Given the description of an element on the screen output the (x, y) to click on. 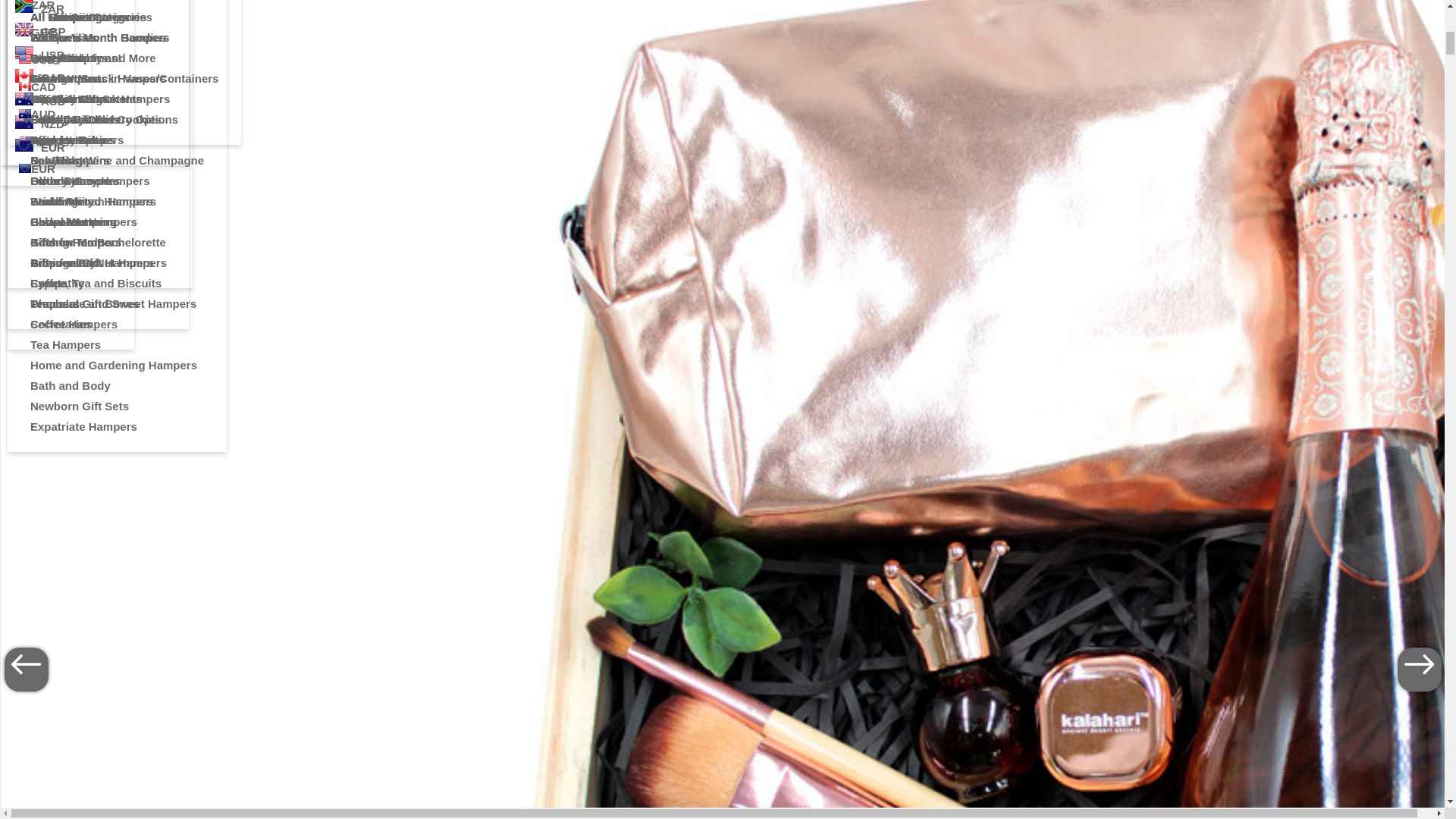
USD (44, 53)
CAD (44, 76)
GBP (44, 29)
EUR (44, 146)
Pamper Hampers (100, 139)
Gourmet Snack Hampers (100, 77)
All Hamper Categories (100, 16)
Occasion Snack Hampers (100, 98)
Chocolate Hampers (100, 221)
Wine, Bubbly and More (100, 57)
Women's Month Hampers (100, 37)
Proposal Gift Hampers (100, 262)
Coffee, Tea and Cookies (100, 118)
Personalised Hampers (100, 200)
NZD (44, 122)
